Given the description of an element on the screen output the (x, y) to click on. 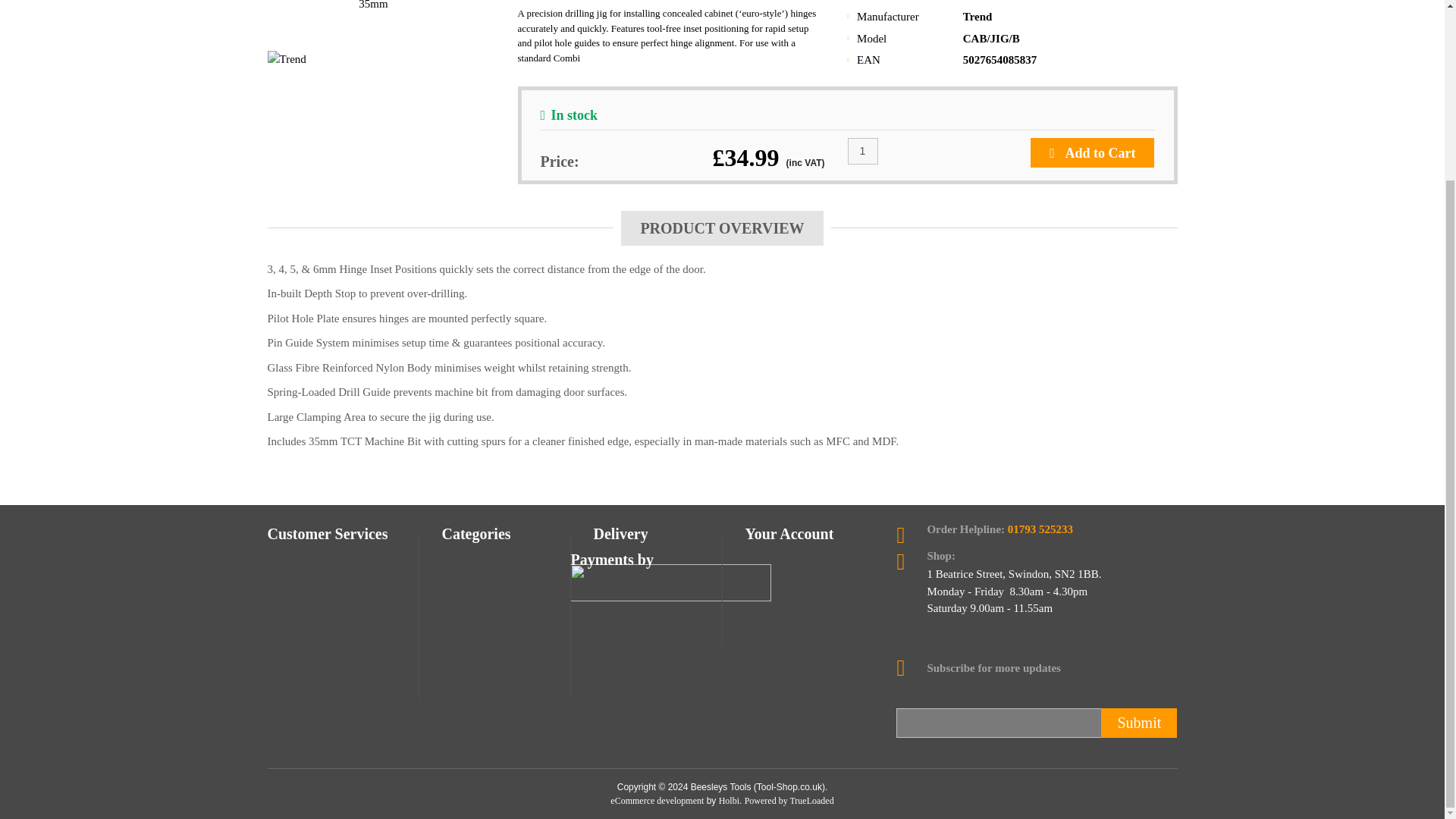
Trend (977, 16)
1 (862, 151)
Submit (1138, 722)
